Given the description of an element on the screen output the (x, y) to click on. 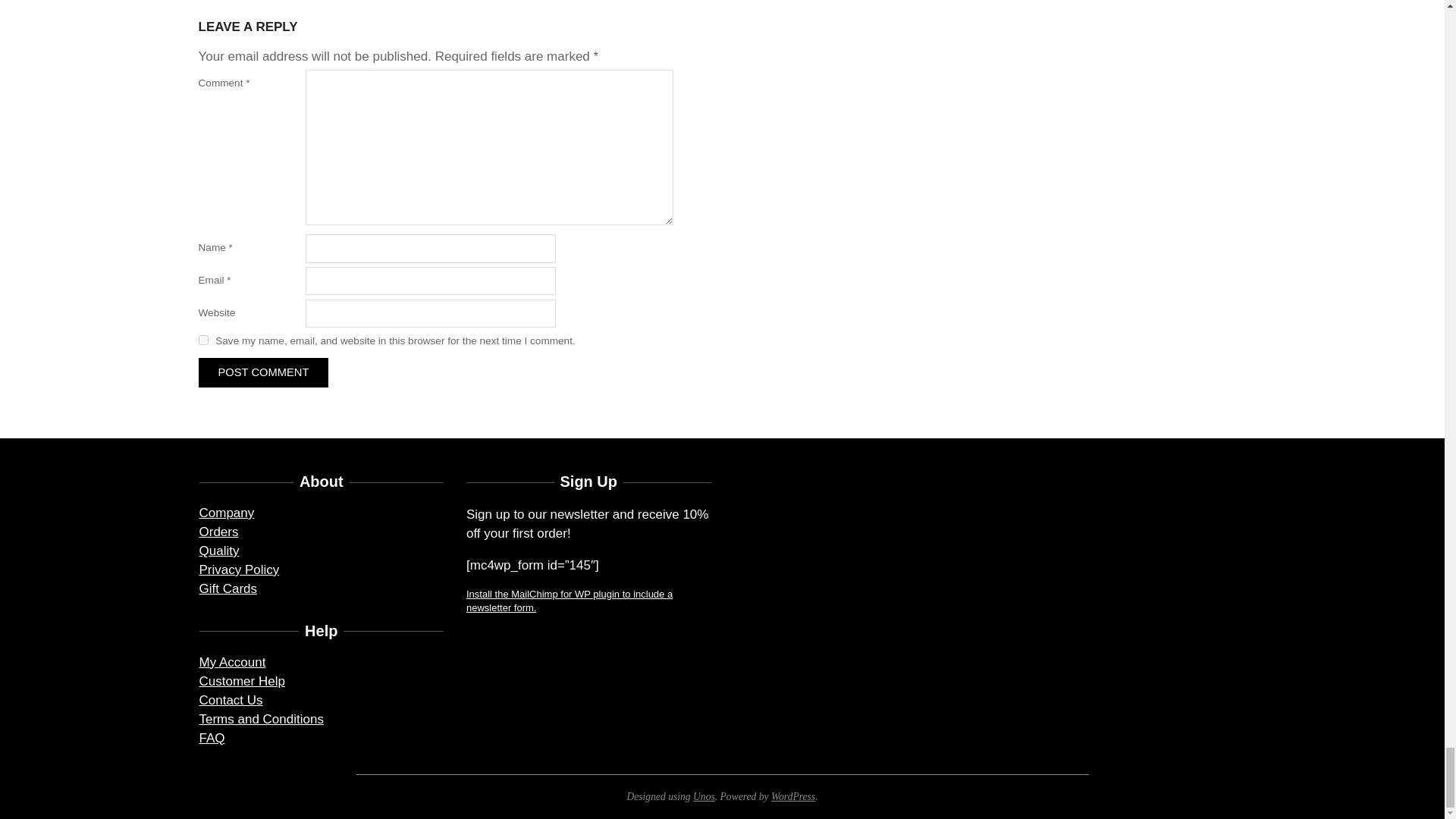
Unos WordPress Theme (703, 796)
yes (203, 339)
Post Comment (263, 371)
